Given the description of an element on the screen output the (x, y) to click on. 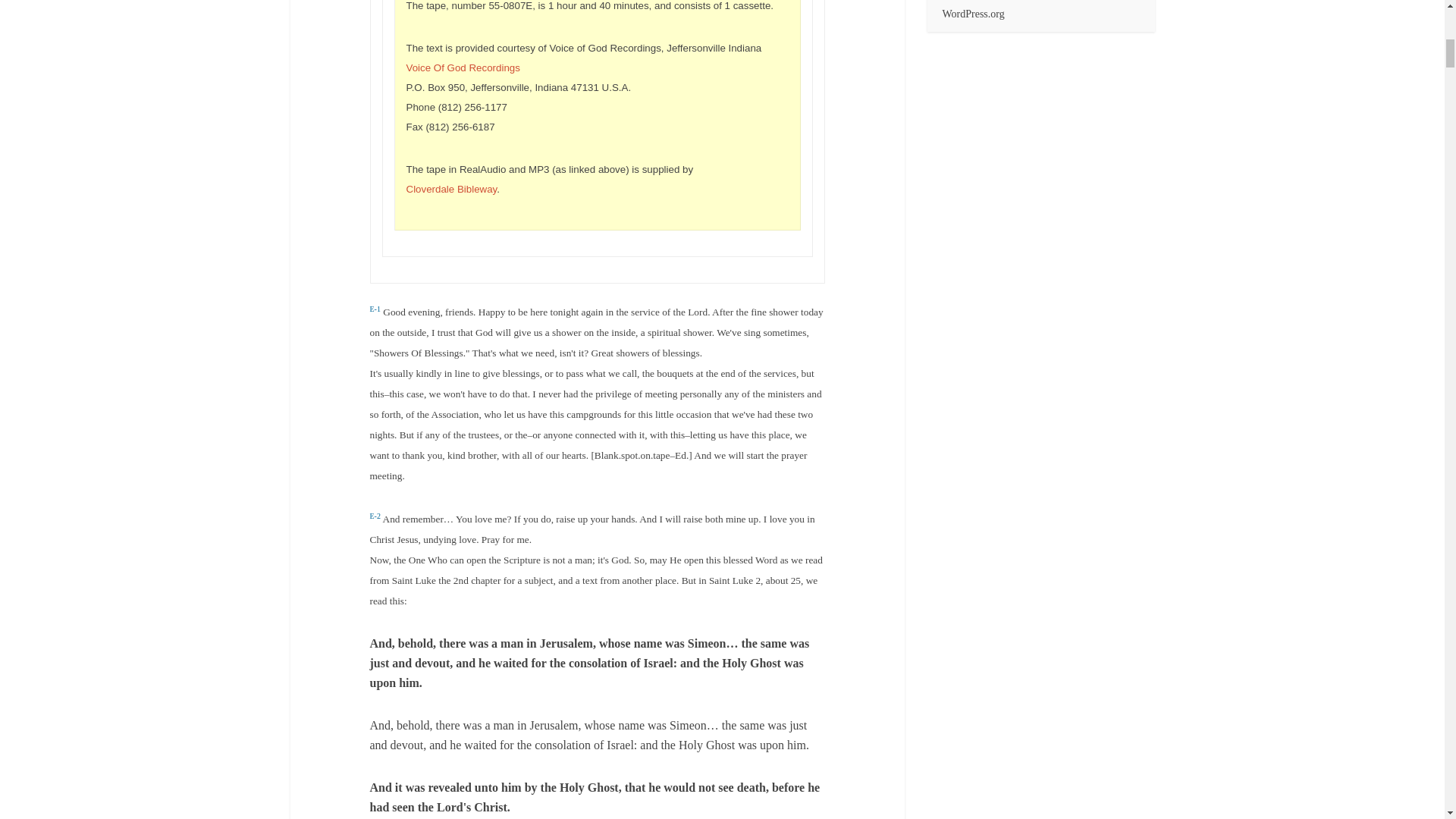
VOGR (462, 67)
All the tapes in RealAudio and MP3 (451, 188)
Cloverdale Bibleway (451, 188)
Voice Of God Recordings (462, 67)
